Given the description of an element on the screen output the (x, y) to click on. 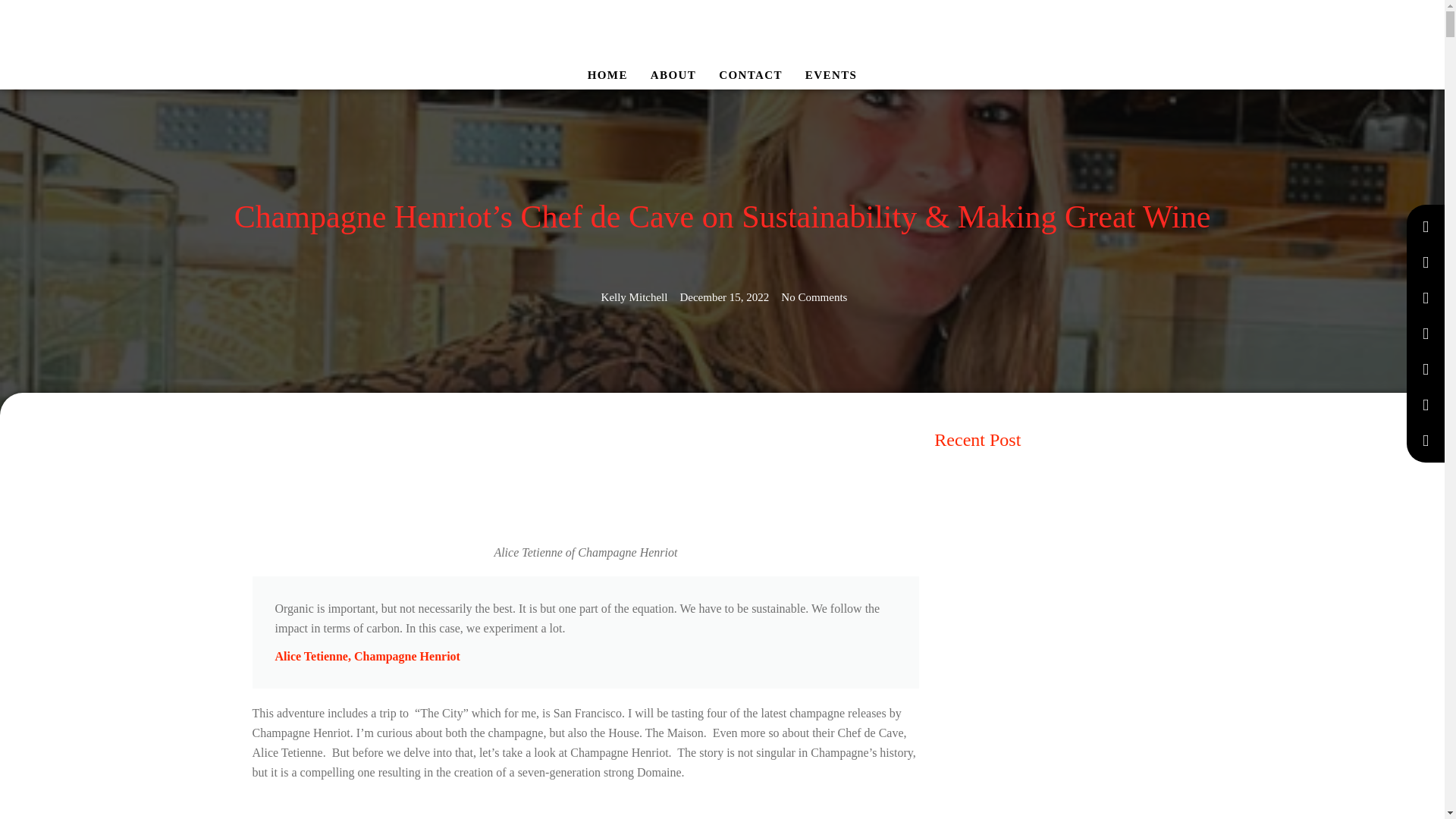
December 15, 2022 (723, 297)
ABOUT (673, 75)
EVENTS (830, 75)
No Comments (813, 297)
HOME (607, 75)
CONTACT (750, 75)
